Given the description of an element on the screen output the (x, y) to click on. 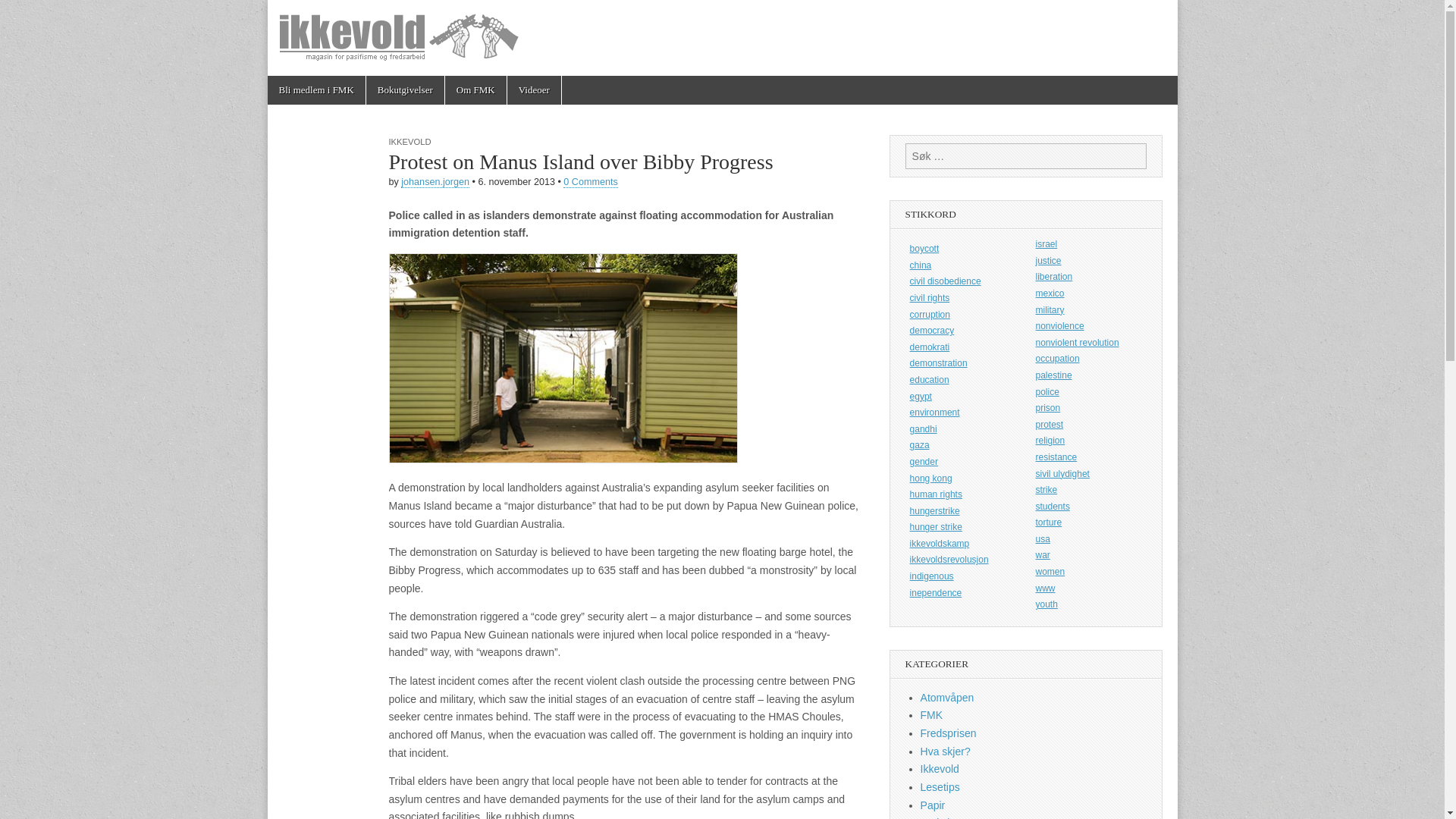
hungerstrike (963, 511)
ikkevold.no (721, 37)
johansen.jorgen (434, 182)
china (963, 265)
ikkevoldskamp (963, 544)
Posts by johansen.jorgen (434, 182)
0 Comments (590, 182)
education (963, 380)
indigenous (963, 576)
ikkevoldsrevolusjon (963, 560)
gandhi (963, 429)
civil disobedience (963, 282)
corruption (963, 315)
